Given the description of an element on the screen output the (x, y) to click on. 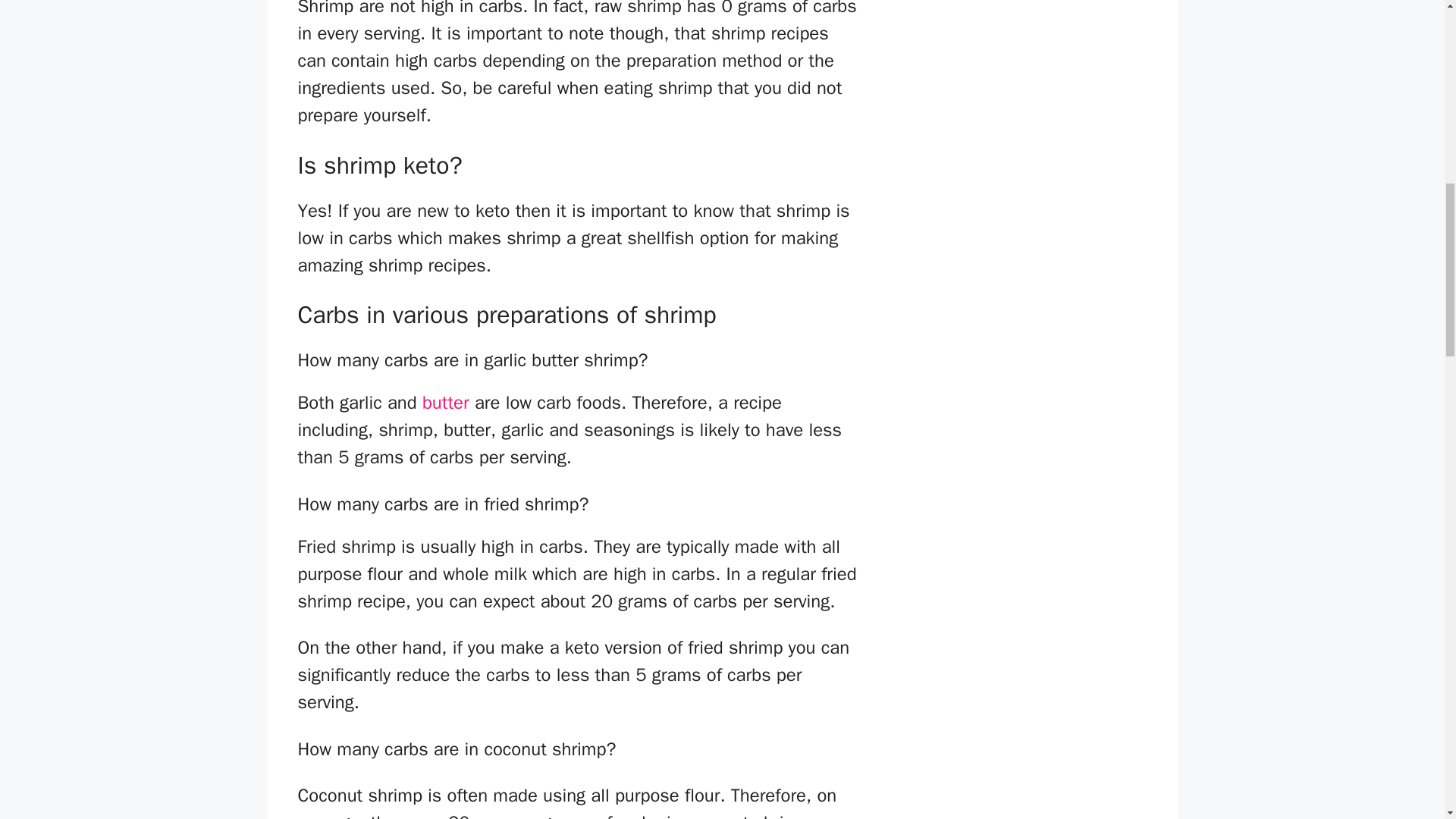
butter (448, 402)
